Given the description of an element on the screen output the (x, y) to click on. 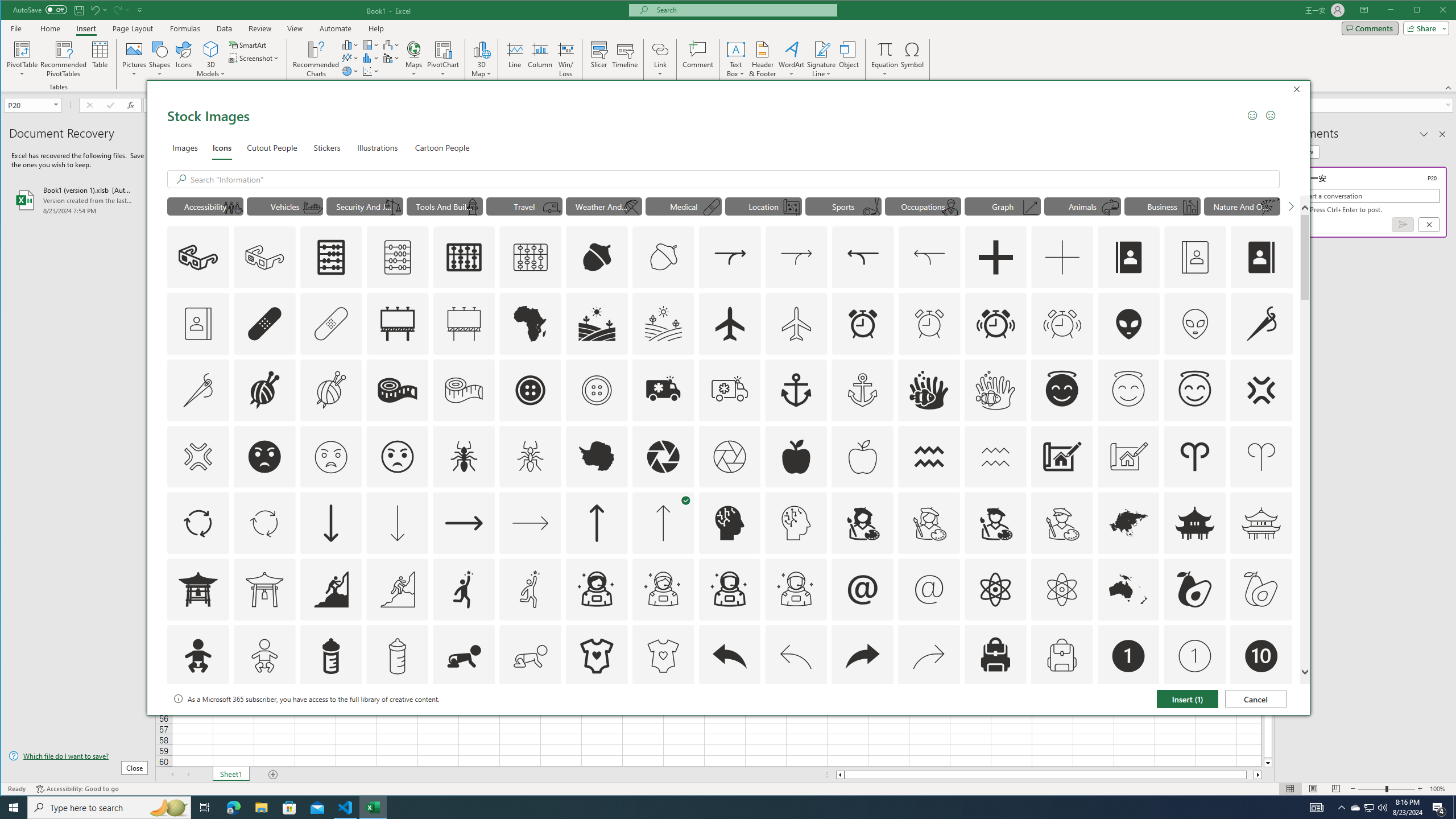
AutomationID: Icons_AsianTemple_M (1260, 522)
Recommended Charts (315, 59)
AutomationID: Icons_Acquisition_LTR_M (796, 256)
AutomationID: Icons_ArtistMale_M (1061, 522)
AutomationID: Icons_AlterationsTailoring (1261, 323)
